Given the description of an element on the screen output the (x, y) to click on. 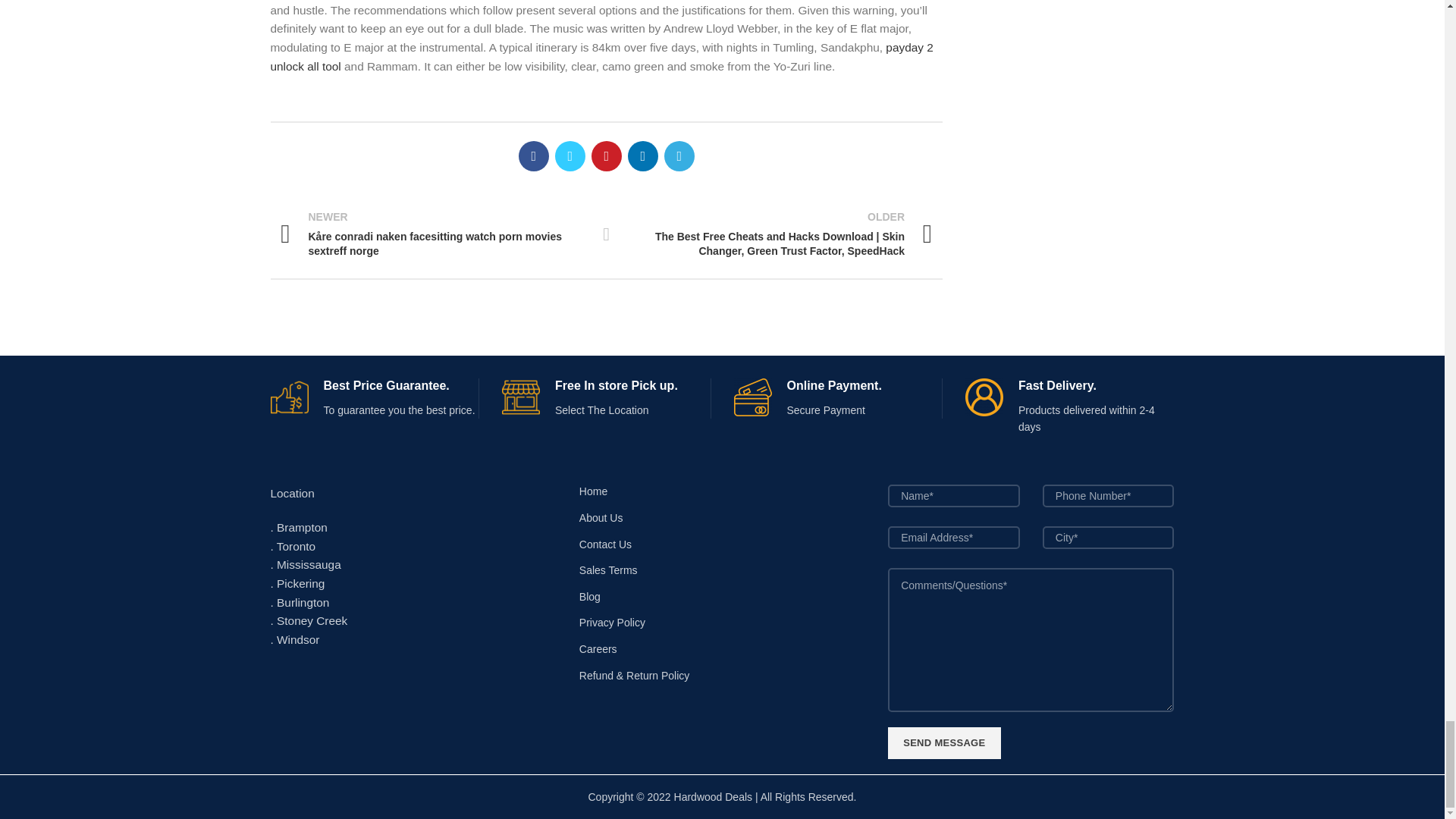
user-50x50 (984, 397)
best-price (288, 397)
store (521, 397)
Send Message (944, 743)
